Given the description of an element on the screen output the (x, y) to click on. 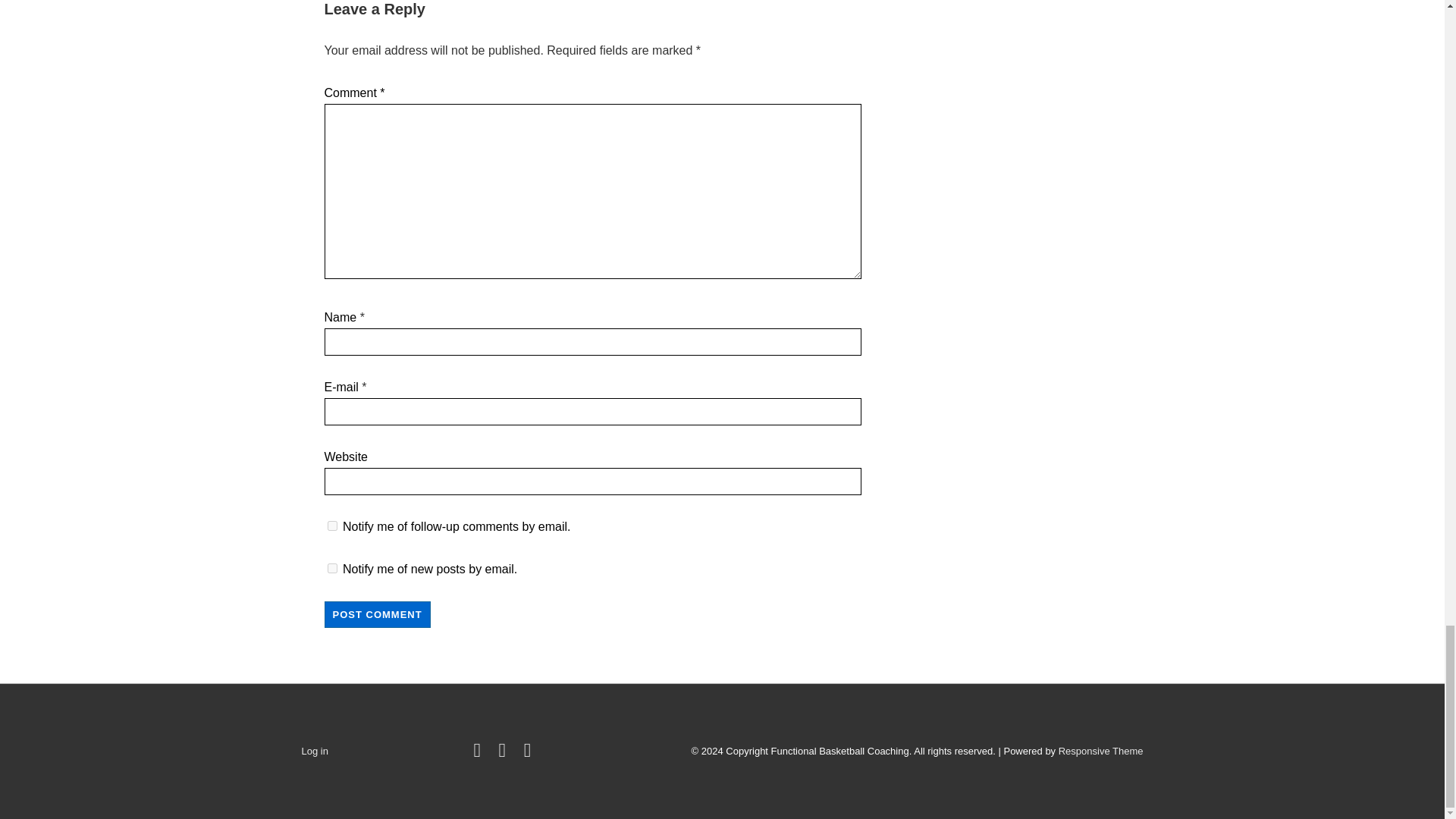
facebook (505, 753)
subscribe (332, 525)
twitter (479, 753)
Post Comment (377, 614)
subscribe (332, 568)
linkedin (529, 753)
